Given the description of an element on the screen output the (x, y) to click on. 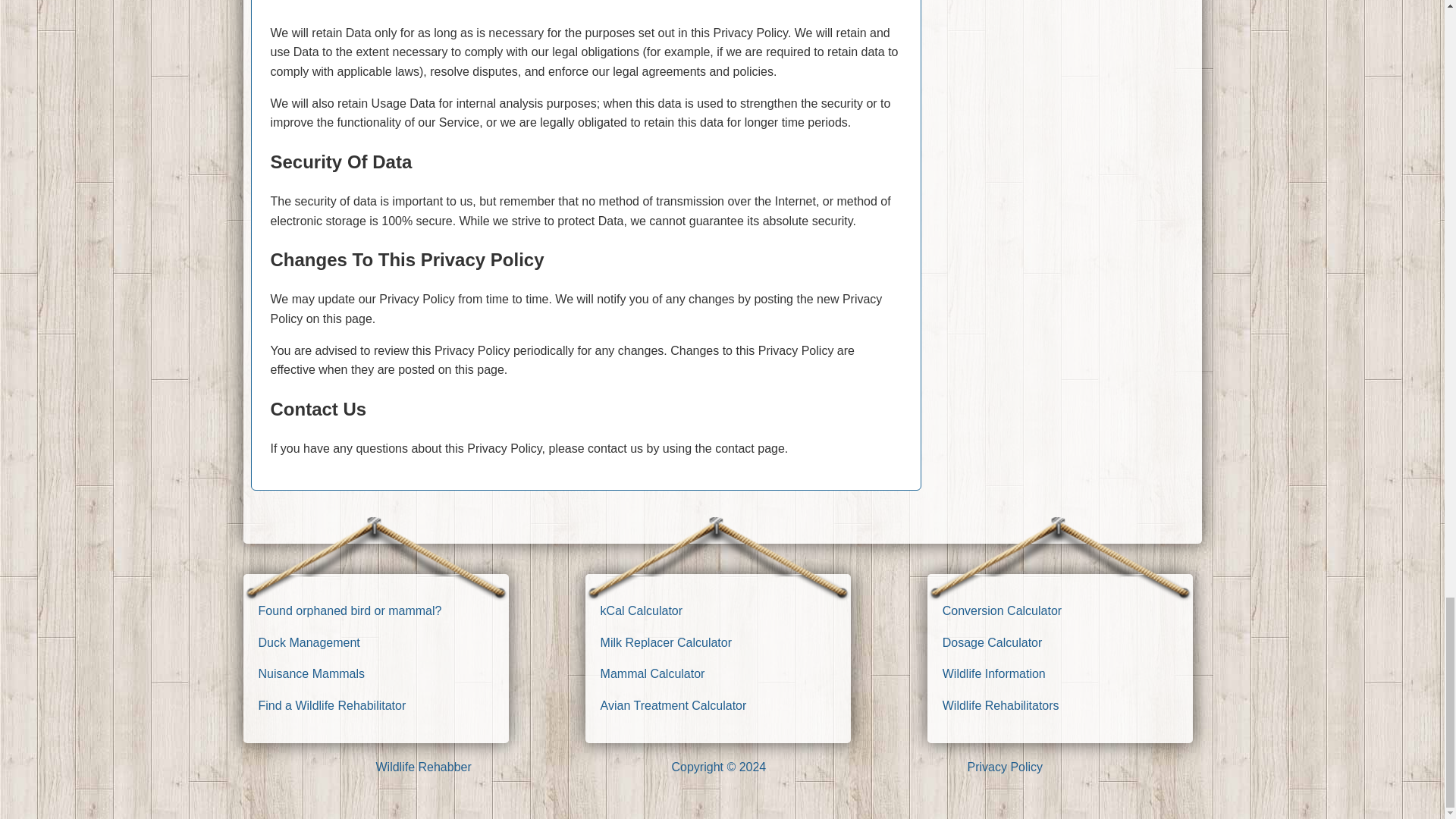
kCal Calculator (640, 610)
Found orphaned bird or mammal? (349, 610)
Nuisance Mammals (310, 673)
Wildlife Rehabilitators (1000, 705)
Wildlife Rehabber (423, 767)
Mammal Calculator (651, 673)
Duck Management (308, 642)
Conversion Calculator (1001, 610)
Dosage Calculator (992, 642)
Wildlife Rehabilitators (1000, 705)
Milk Replacer Calculator (665, 642)
Find a Wildlife Rehabilitator (331, 705)
Wildlife Information (993, 673)
Avian Treatment Calculator (672, 705)
